Given the description of an element on the screen output the (x, y) to click on. 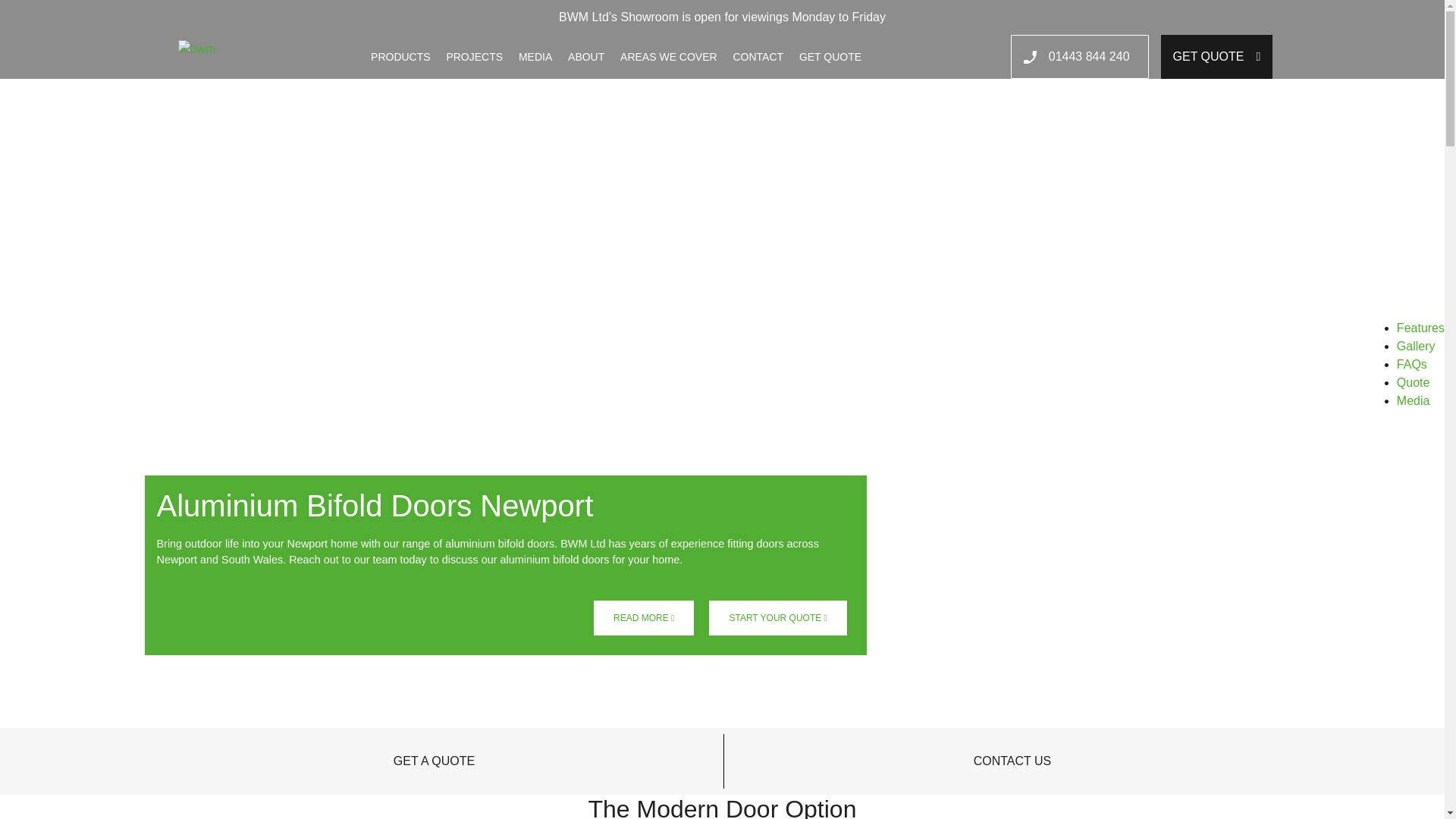
PROJECTS (473, 56)
PRODUCTS (400, 56)
AREAS WE COVER (668, 56)
